Given the description of an element on the screen output the (x, y) to click on. 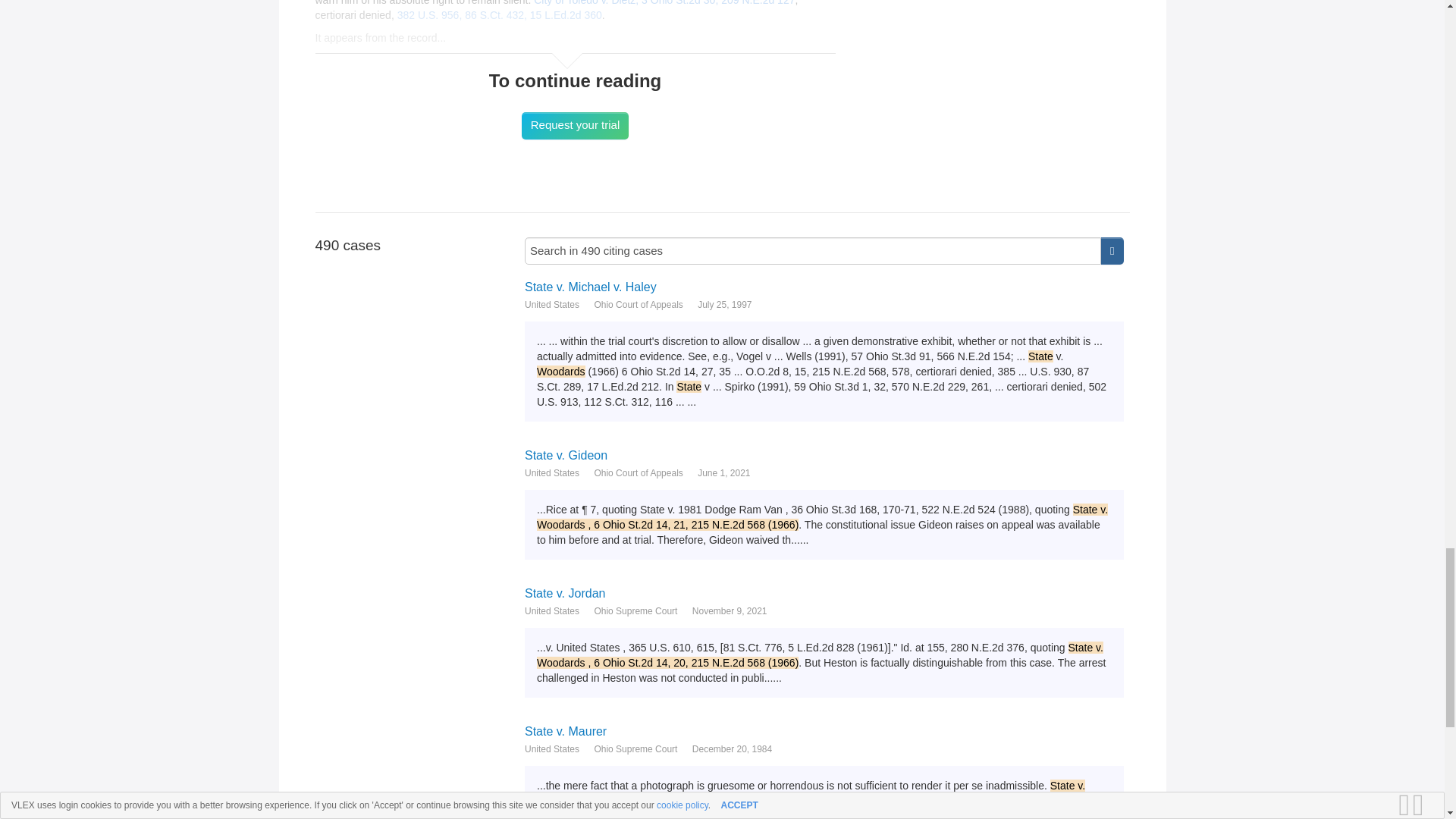
State v. Maurer (824, 730)
July 25, 1997 (724, 304)
Ohio Court of Appeals (638, 473)
382 U.S. 956, 86 S.Ct. 432, 15 L.Ed.2d 360 (499, 15)
November 9, 2021 (730, 611)
State v. Michael v. Haley (824, 287)
City of Toledo v. Dietz, 3 Ohio St.2d 30, 209 N.E.2d 127 (664, 2)
State v. Gideon (824, 454)
December 20, 1984 (732, 749)
United States (551, 304)
United States (551, 473)
United States (551, 611)
State v. Michael v. Haley (824, 287)
State v. Gideon (824, 454)
Ohio Court of Appeals (638, 304)
